Given the description of an element on the screen output the (x, y) to click on. 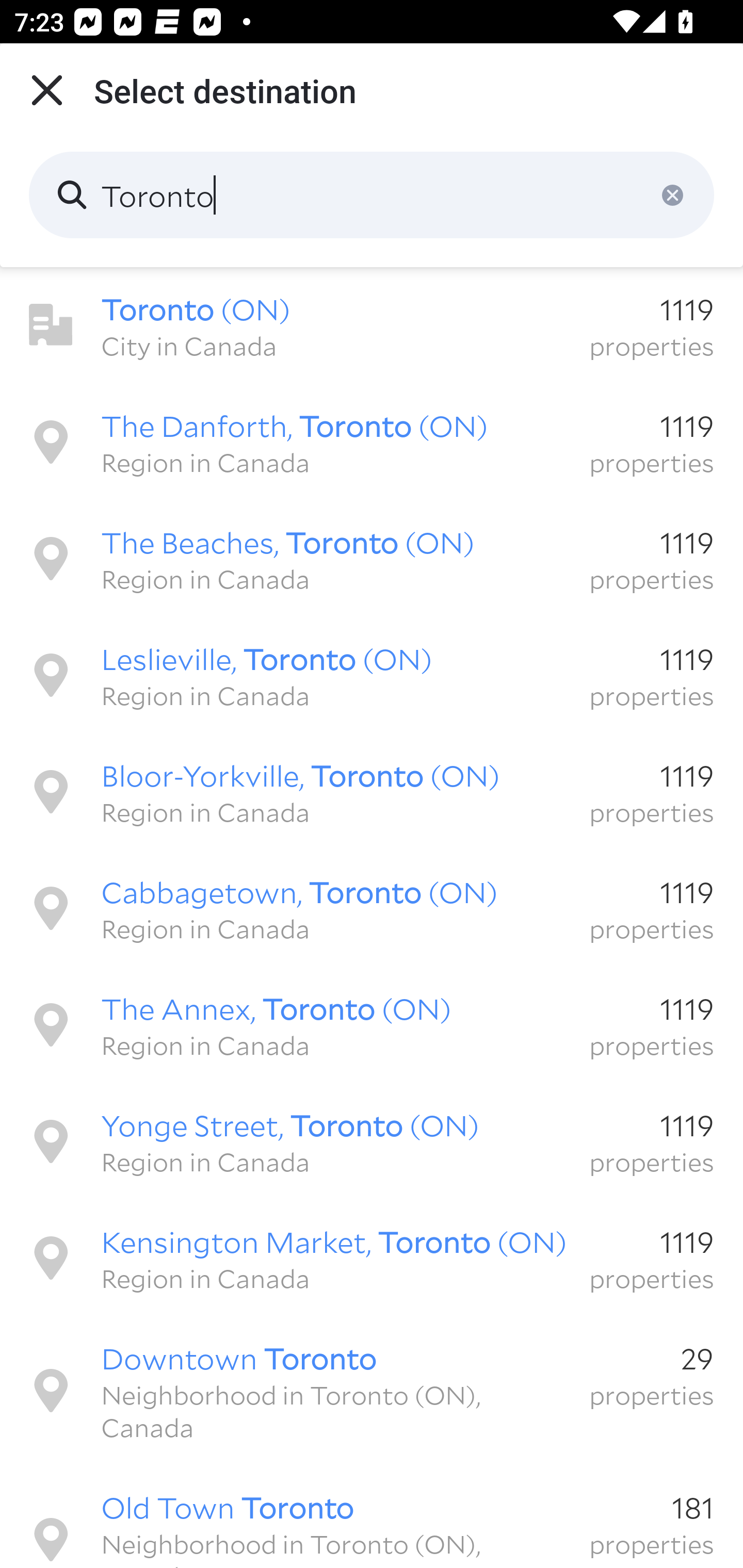
Toronto (371, 195)
Toronto (ON) 1119 City in Canada properties (371, 325)
